Given the description of an element on the screen output the (x, y) to click on. 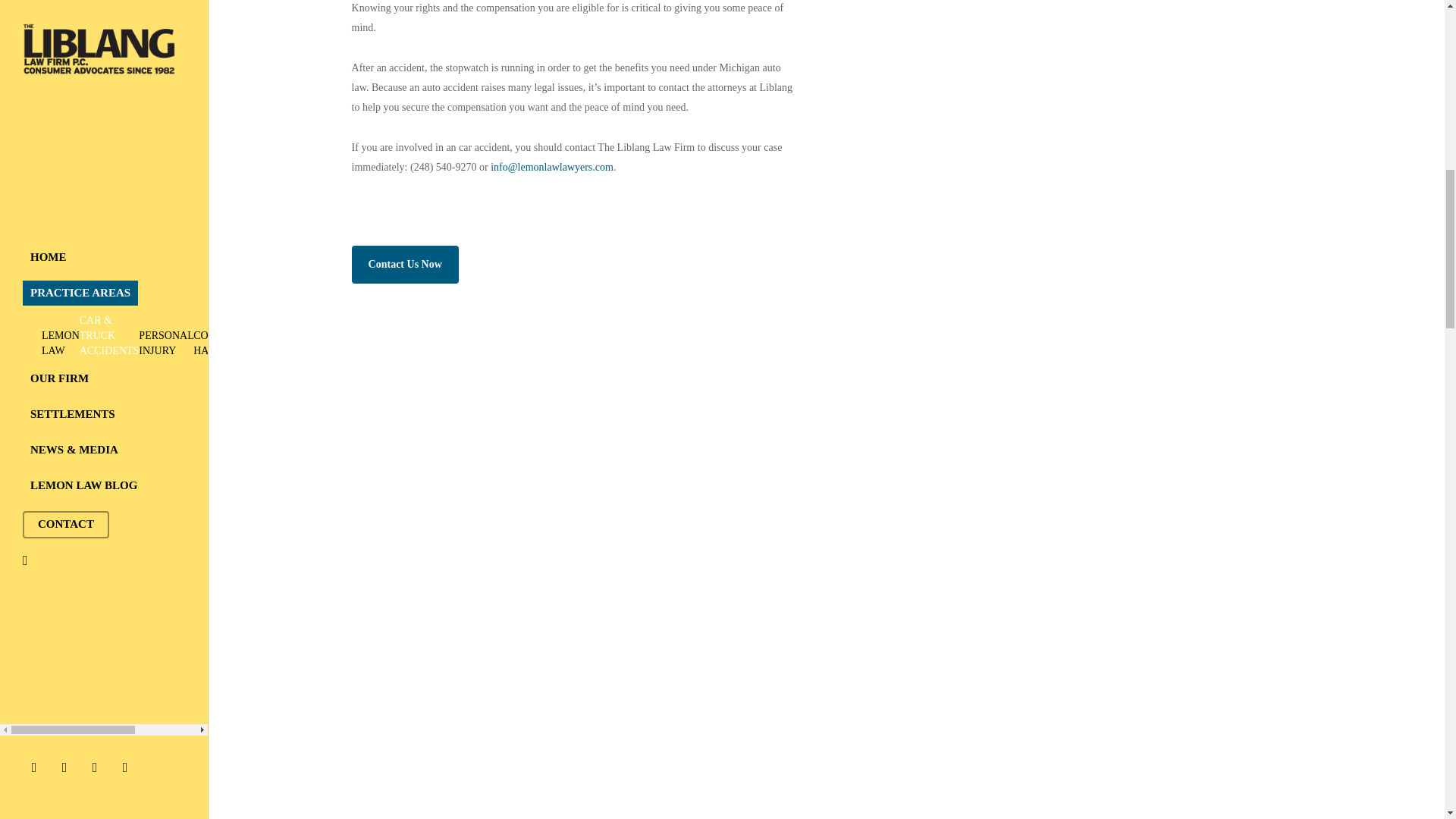
Contact Us Now (405, 264)
